Given the description of an element on the screen output the (x, y) to click on. 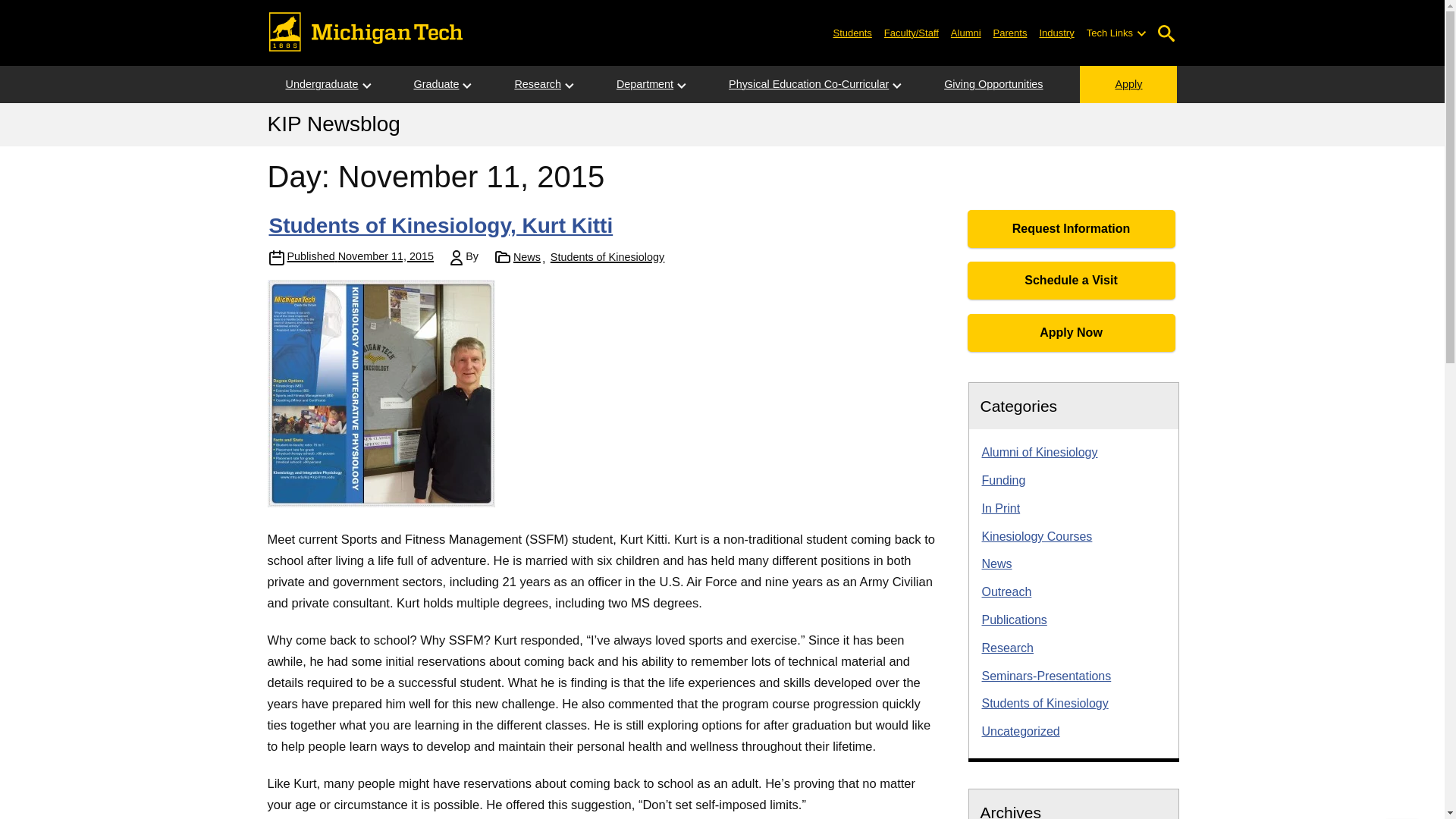
Industry (1056, 32)
Undergraduate (320, 84)
Alumni (965, 32)
Graduate (435, 84)
Parents (1010, 32)
Students (852, 32)
Open Search (1166, 33)
